Given the description of an element on the screen output the (x, y) to click on. 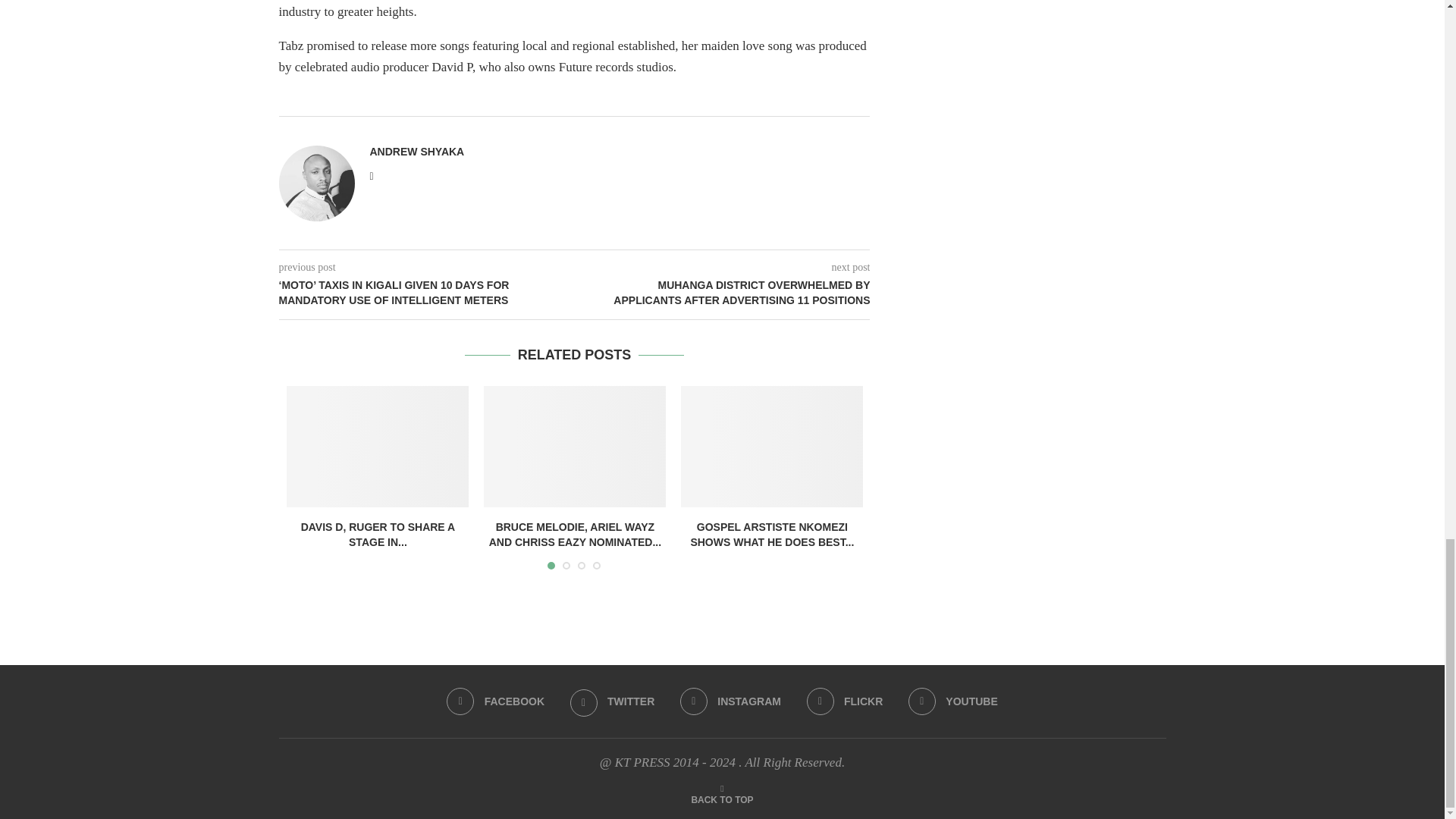
Davis D, Ruger To Share A Stage In Poland (377, 445)
Author Andrew Shyaka (416, 151)
ANDREW SHYAKA (416, 151)
